Given the description of an element on the screen output the (x, y) to click on. 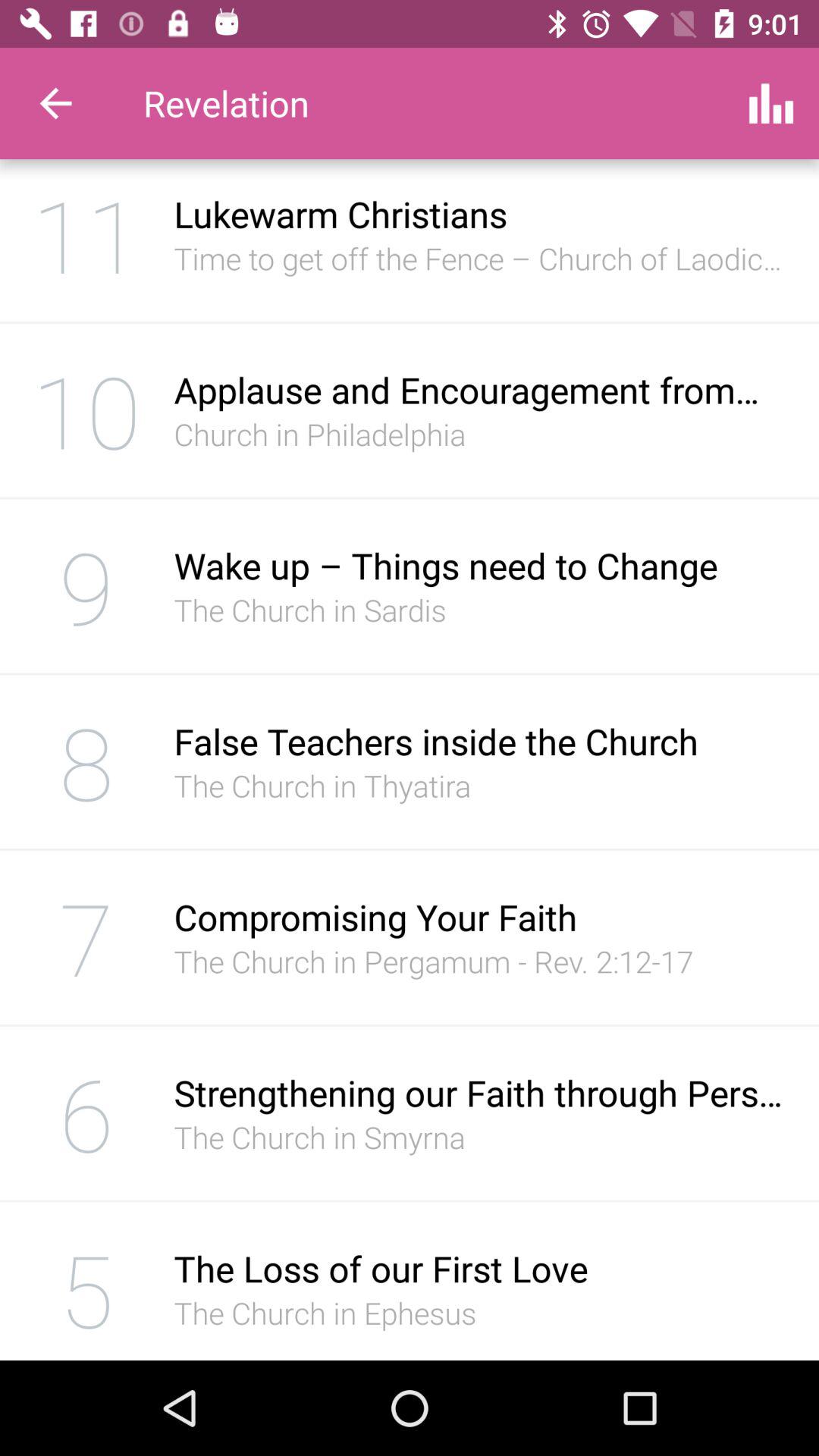
turn on the item to the left of the strengthening our faith item (86, 1113)
